Given the description of an element on the screen output the (x, y) to click on. 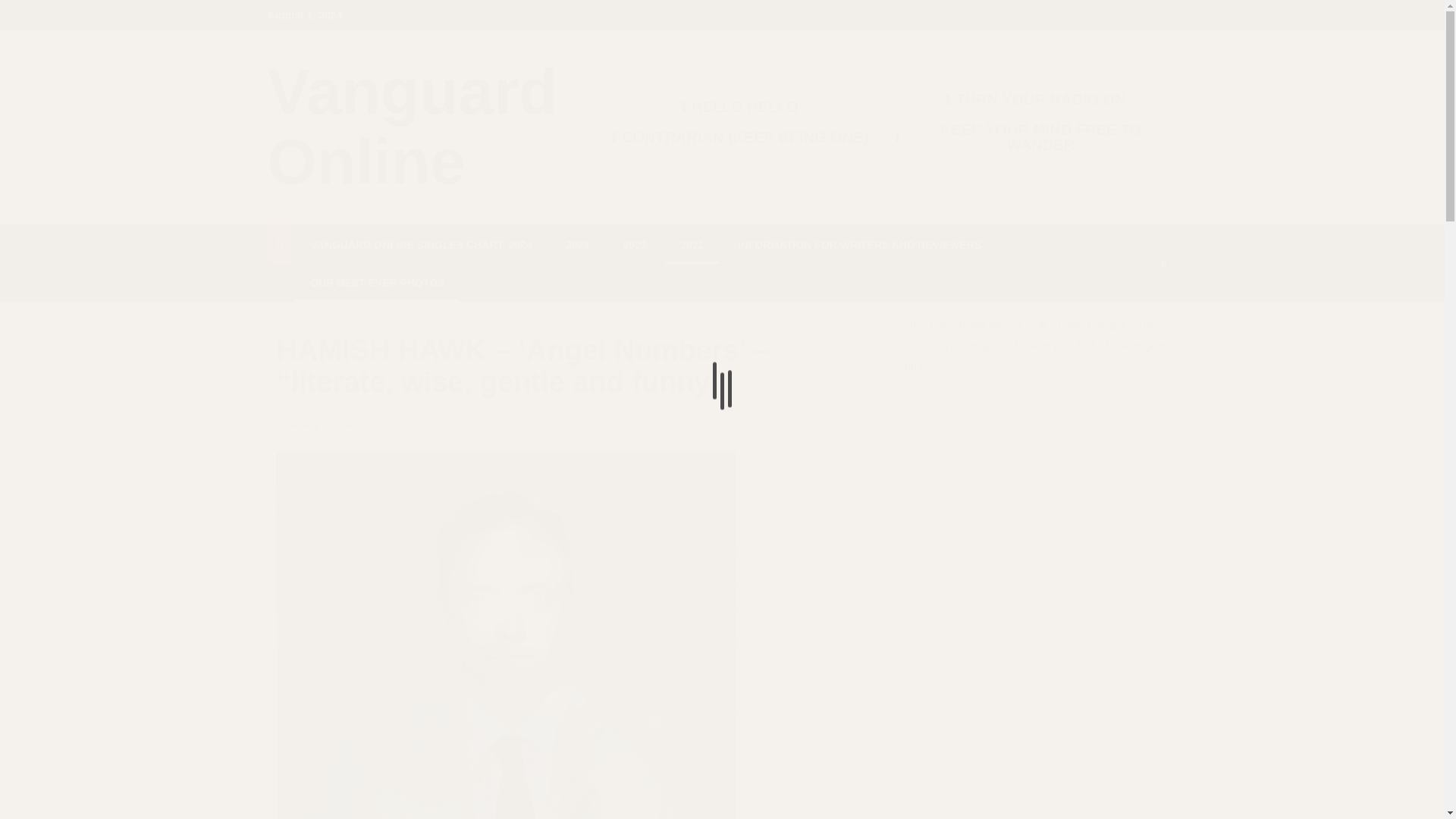
Vanguard Online (411, 126)
VANGUARD ONLINE SINGLES CHART, 2024 (420, 244)
Search (1133, 308)
2021 (691, 244)
INFORMATION FOR WRITERS AND REVIEWERS (859, 244)
2022 (634, 244)
OUR BEST EVER PHOTOS (377, 282)
2023 (577, 244)
